Given the description of an element on the screen output the (x, y) to click on. 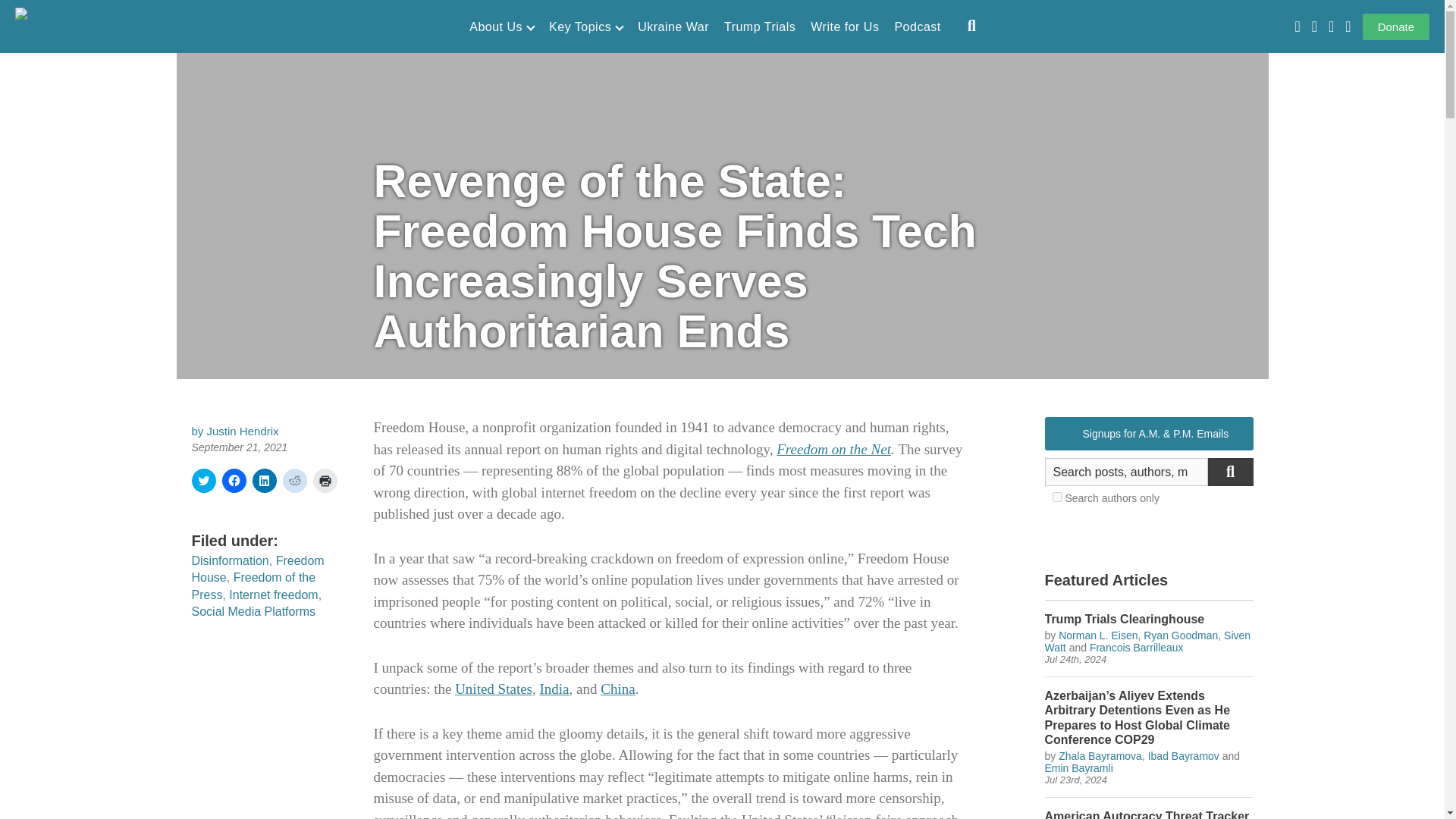
Click to print (324, 480)
Profile and articles by Zhala Bayramova (1099, 756)
on (1057, 497)
Follow us on Twitter (1314, 27)
Trump Trials (758, 27)
Key Topics (585, 27)
Profile and articles by Emin Bayramli (1079, 767)
Click to share on Facebook (233, 480)
Profile and articles by Siven Watt (1147, 641)
Click to share on Twitter (202, 480)
Click to share on LinkedIn (263, 480)
Profile and articles by Francois Barrilleaux (1136, 647)
Profile and articles by Ryan Goodman (1179, 635)
Profile and articles by Justin Hendrix (242, 431)
Podcast (916, 27)
